Given the description of an element on the screen output the (x, y) to click on. 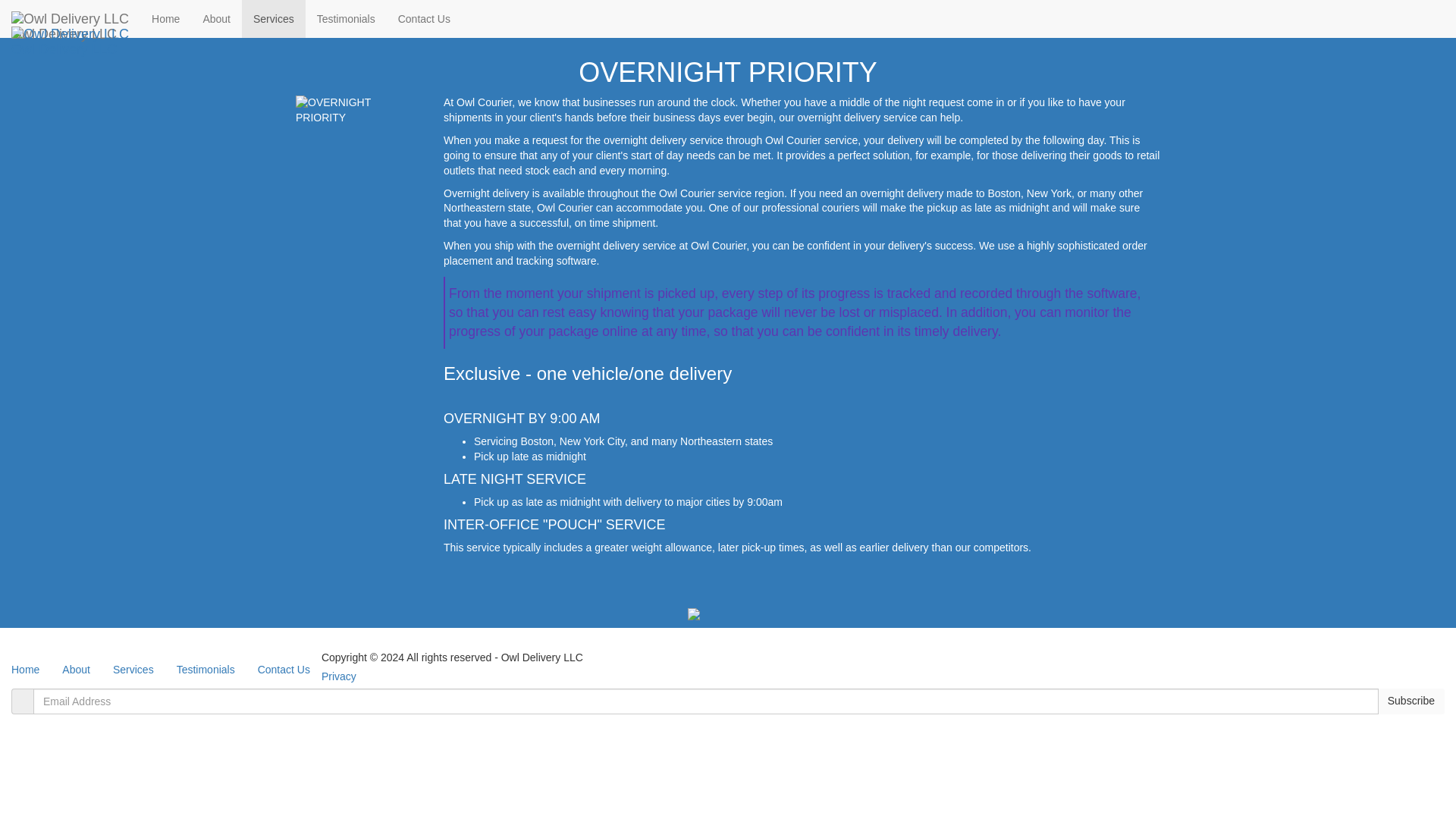
Testimonials (205, 669)
Services (133, 669)
Owl Delivery LLC (69, 18)
Services (273, 18)
Contact Us (283, 669)
Testimonials (346, 18)
Contact Us (424, 18)
About (215, 18)
About (75, 669)
Subscribe (1410, 701)
Owl Delivery LLC (69, 34)
Home (25, 669)
Privacy (338, 676)
Home (164, 18)
